Given the description of an element on the screen output the (x, y) to click on. 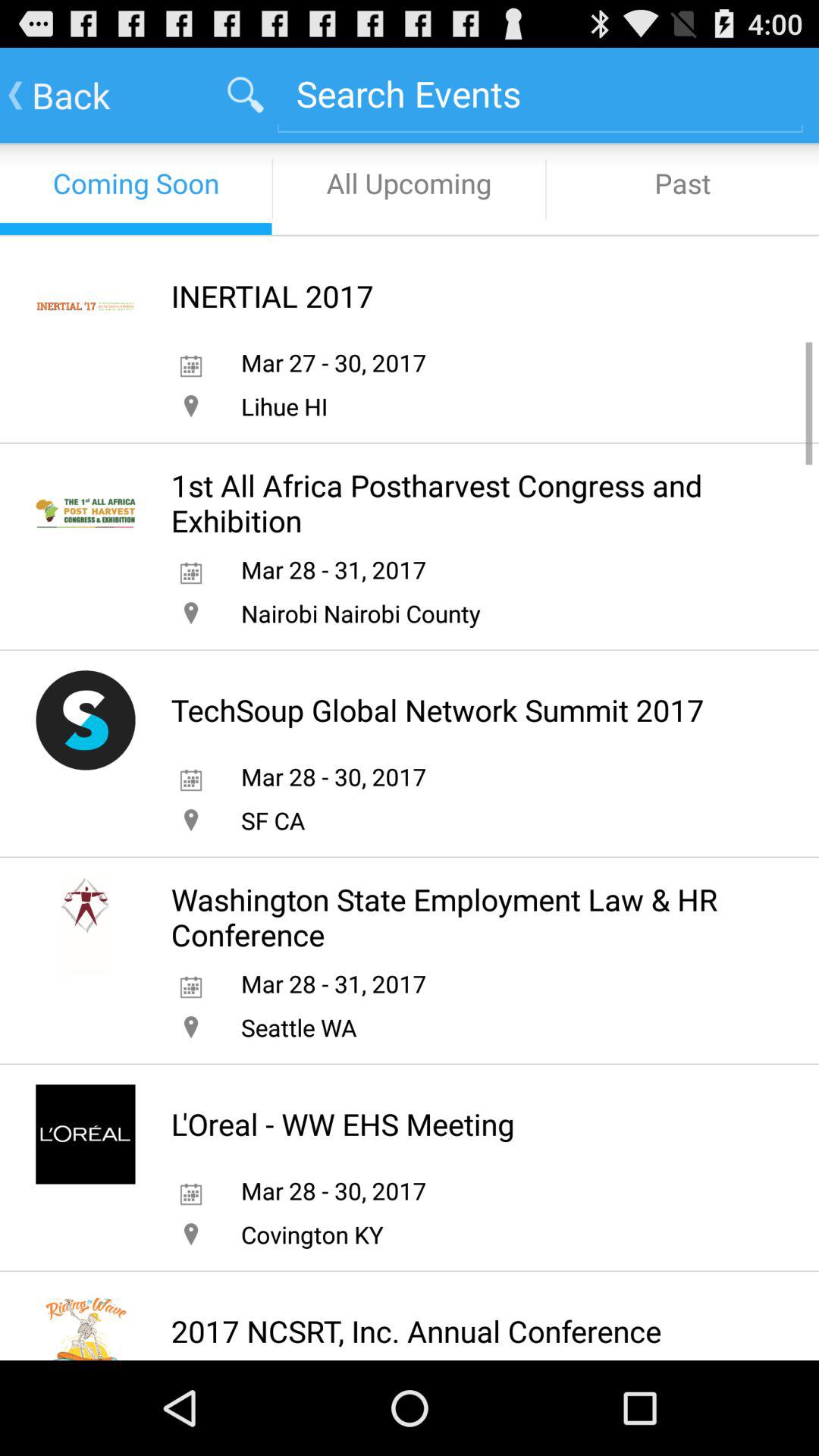
jump until the lihue hi item (284, 406)
